Given the description of an element on the screen output the (x, y) to click on. 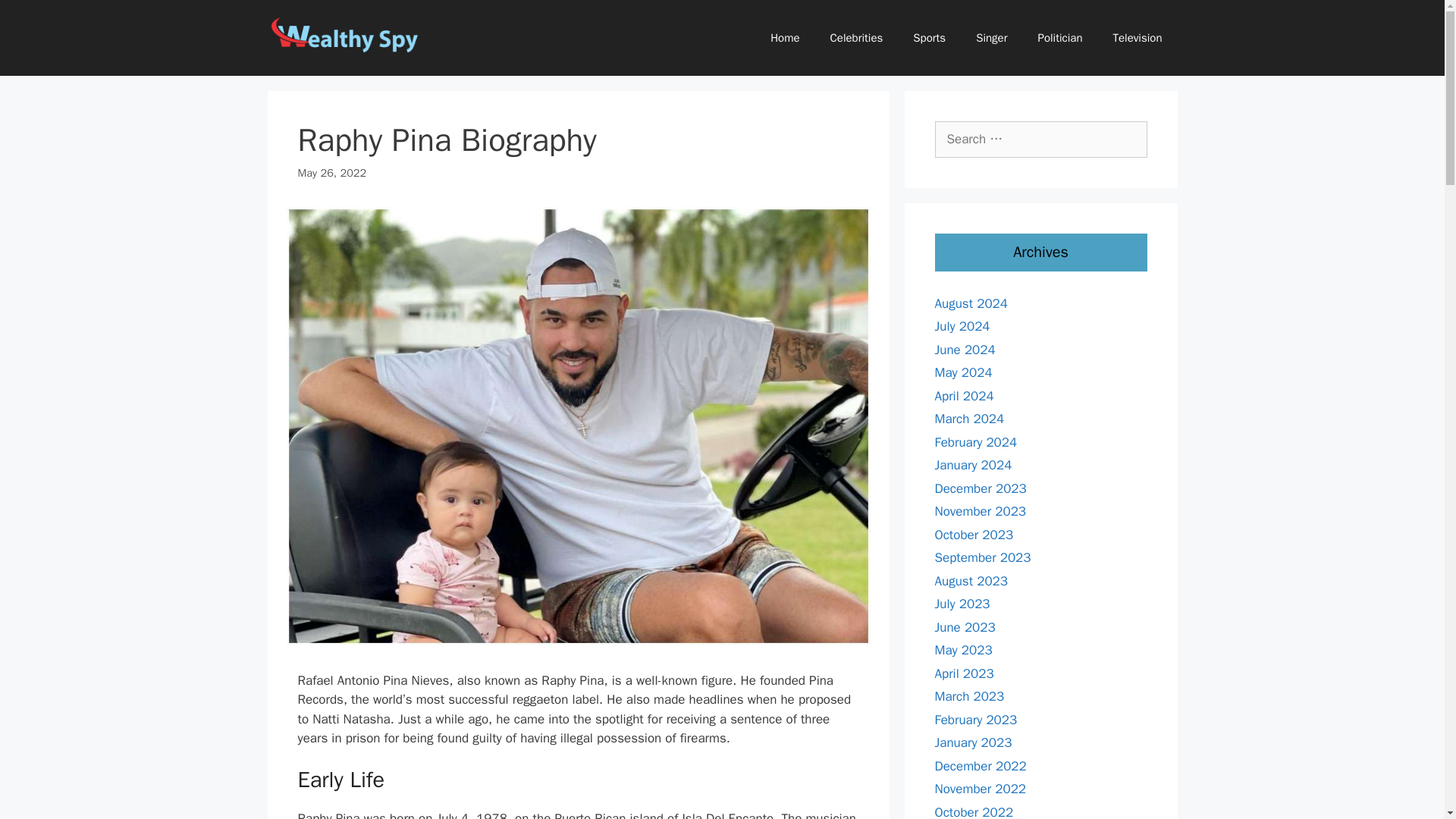
November 2023 (980, 511)
July 2024 (962, 326)
January 2024 (972, 465)
Search (35, 18)
March 2024 (969, 418)
Sports (929, 37)
Home (784, 37)
May 2024 (962, 372)
August 2023 (970, 580)
February 2024 (975, 441)
